Given the description of an element on the screen output the (x, y) to click on. 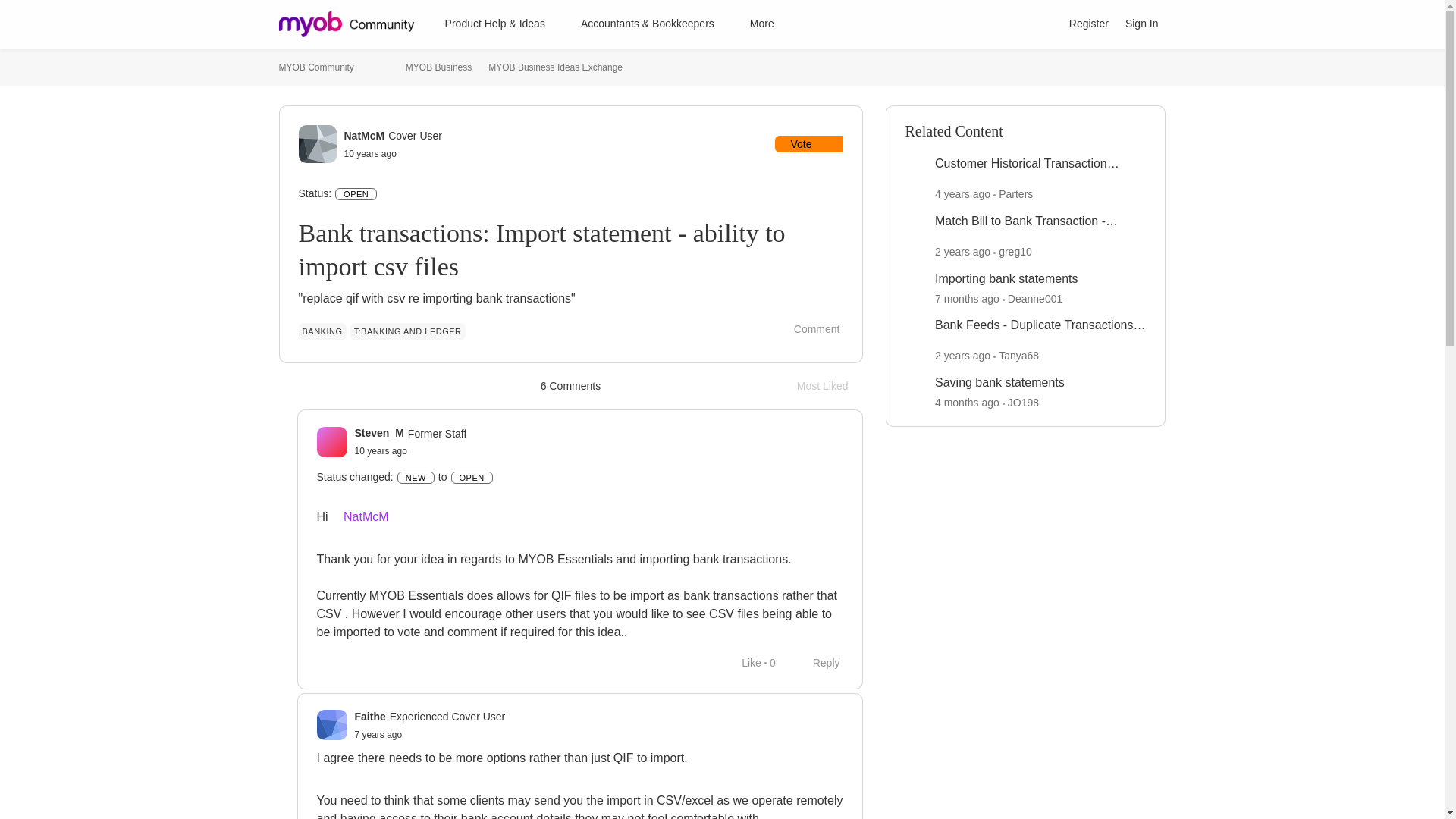
Customer Historical Transaction Statement (1039, 163)
NatMcM (359, 516)
Saving bank statements (999, 383)
10 years ago (829, 385)
May 11, 2021 at 4:39 AM (381, 450)
April 7, 2023 at 10:18 PM (962, 193)
Search (962, 251)
Register (1043, 24)
T:BANKING AND LEDGER (1088, 23)
